Given the description of an element on the screen output the (x, y) to click on. 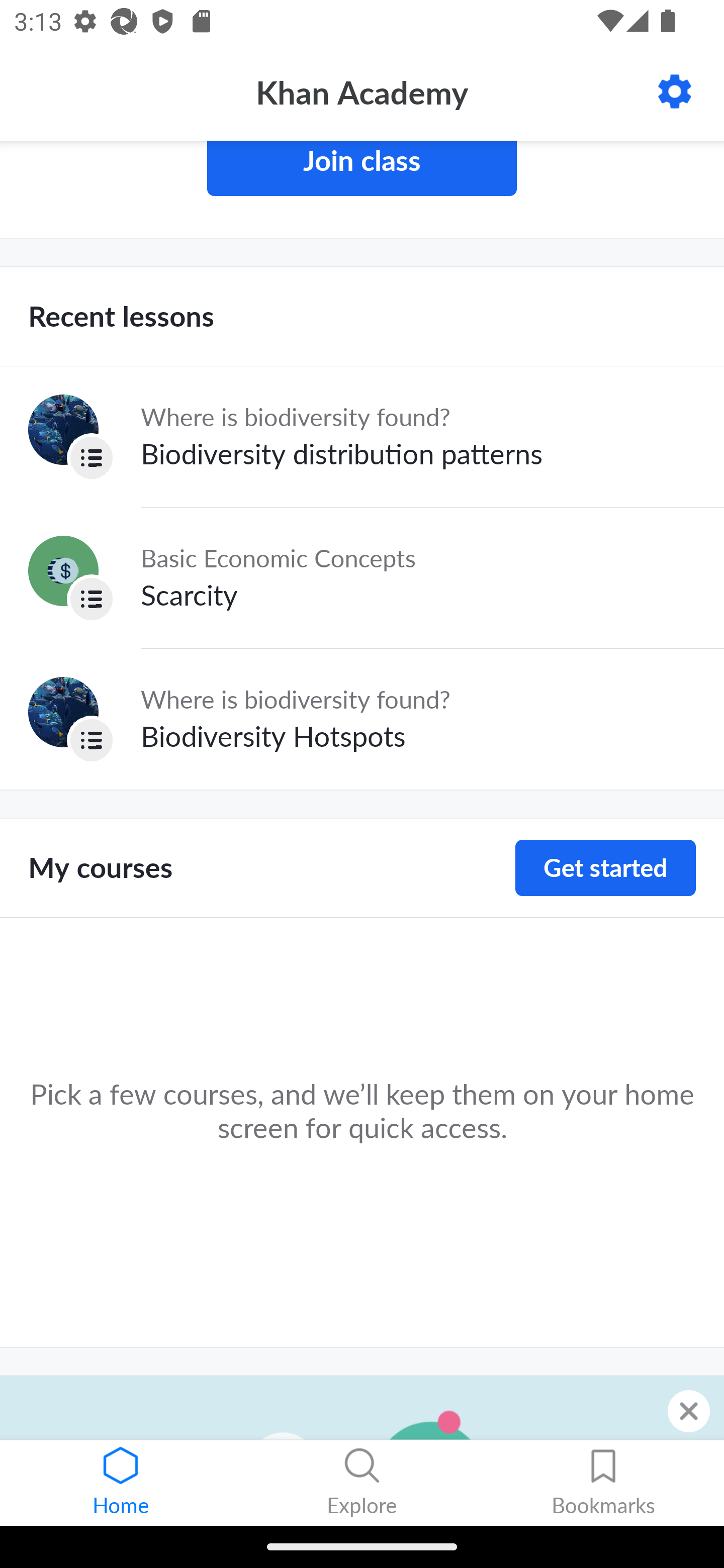
Settings (674, 91)
Join class (361, 168)
Lesson Basic Economic Concepts Scarcity (362, 578)
Get started (605, 867)
Dismiss (688, 1410)
Home (120, 1482)
Explore (361, 1482)
Bookmarks (603, 1482)
